Given the description of an element on the screen output the (x, y) to click on. 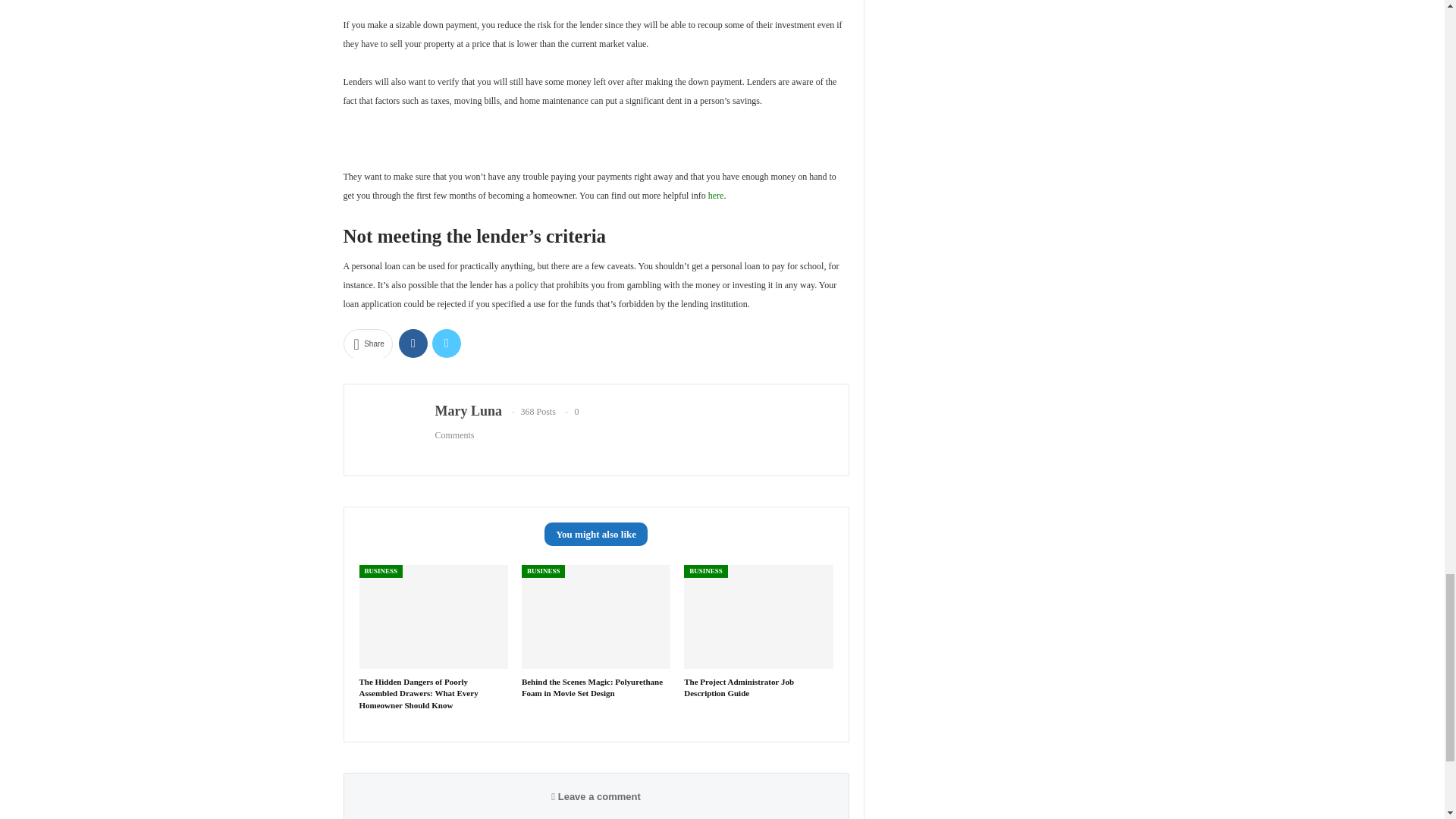
Leave a comment (595, 796)
The Project Administrator Job Description Guide (738, 687)
BUSINESS (706, 571)
The Project Administrator Job Description Guide (758, 617)
here (715, 195)
BUSINESS (381, 571)
